Given the description of an element on the screen output the (x, y) to click on. 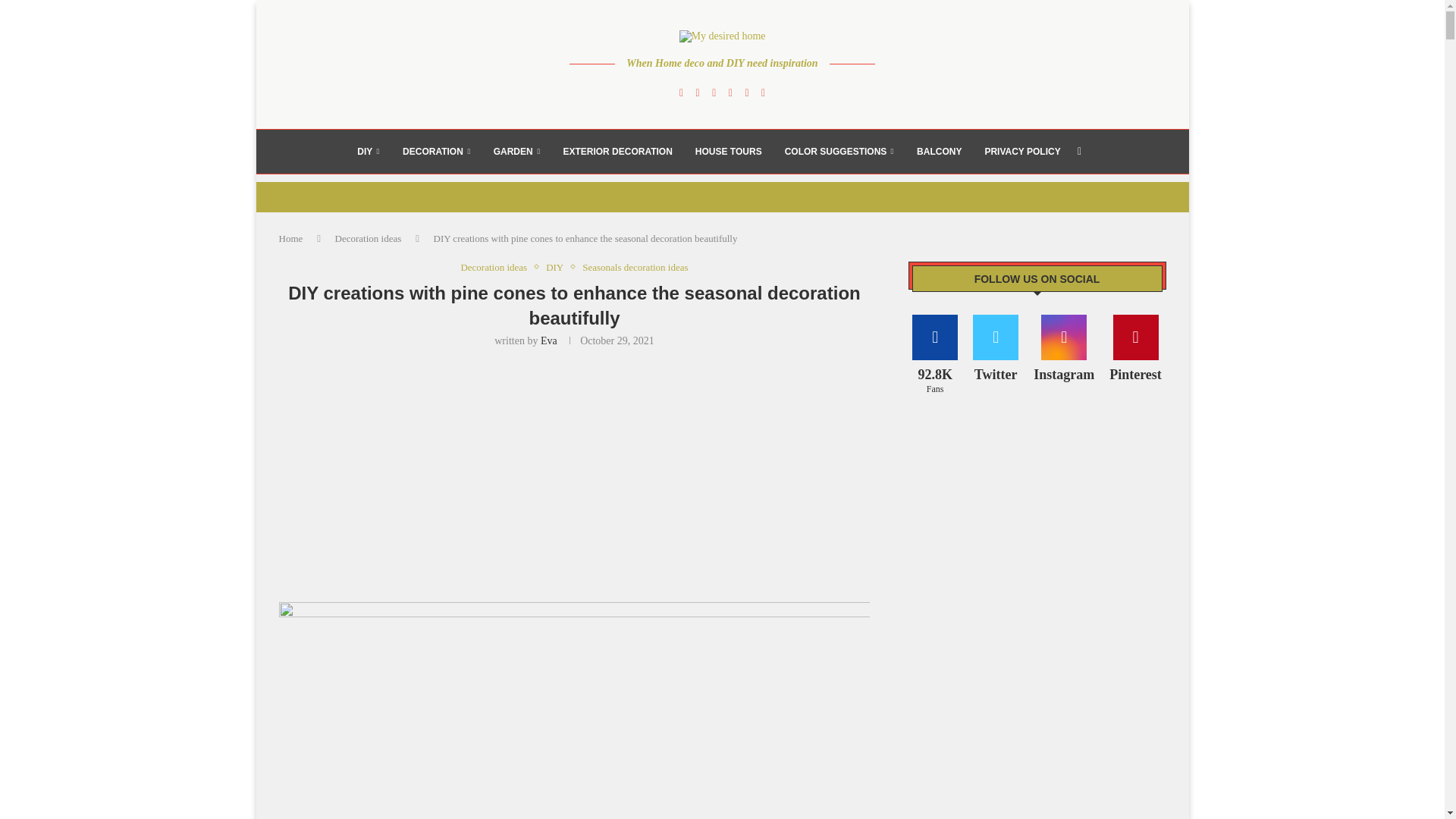
HOUSE TOURS (728, 151)
PRIVACY POLICY (1021, 151)
Seasonals decoration ideas (634, 267)
Decoration ideas (497, 267)
DIY (558, 267)
Decoration ideas (367, 238)
Eva (548, 340)
GARDEN (516, 151)
EXTERIOR DECORATION (616, 151)
BALCONY (938, 151)
